Given the description of an element on the screen output the (x, y) to click on. 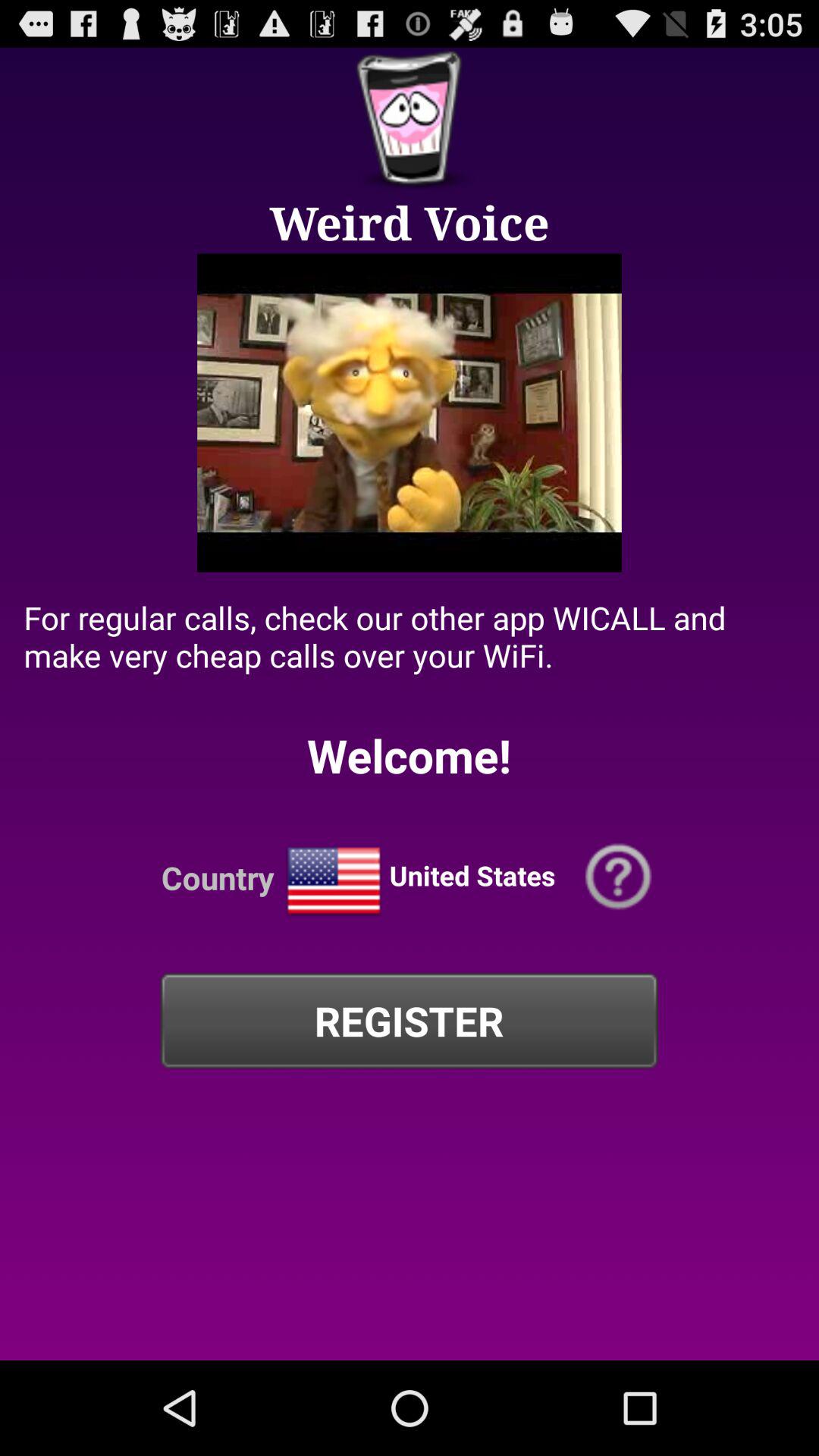
help button (618, 877)
